Given the description of an element on the screen output the (x, y) to click on. 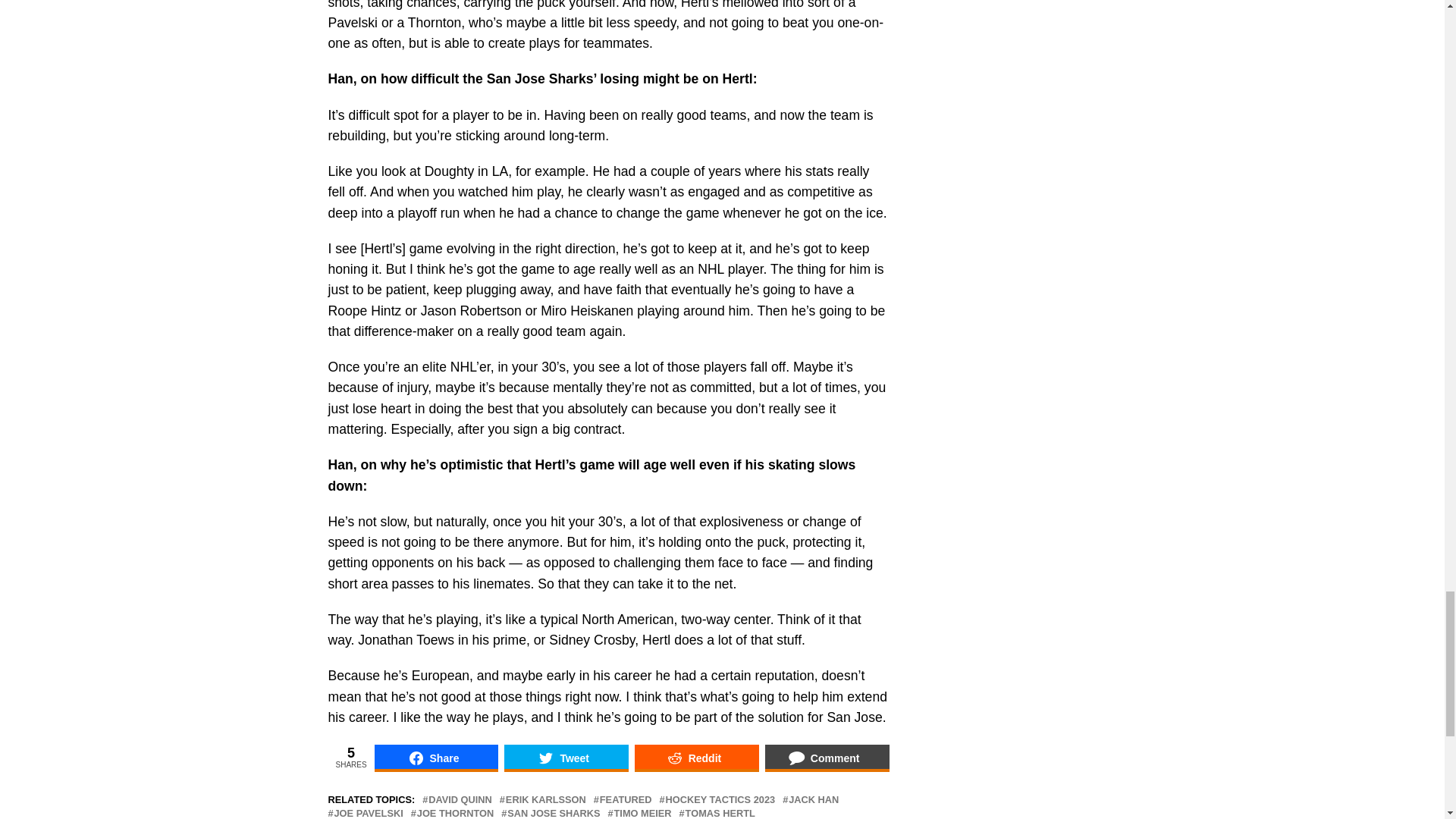
Share on Reddit (696, 758)
Share on Share (436, 758)
Share on Tweet (565, 758)
Share on Comment (827, 758)
